Given the description of an element on the screen output the (x, y) to click on. 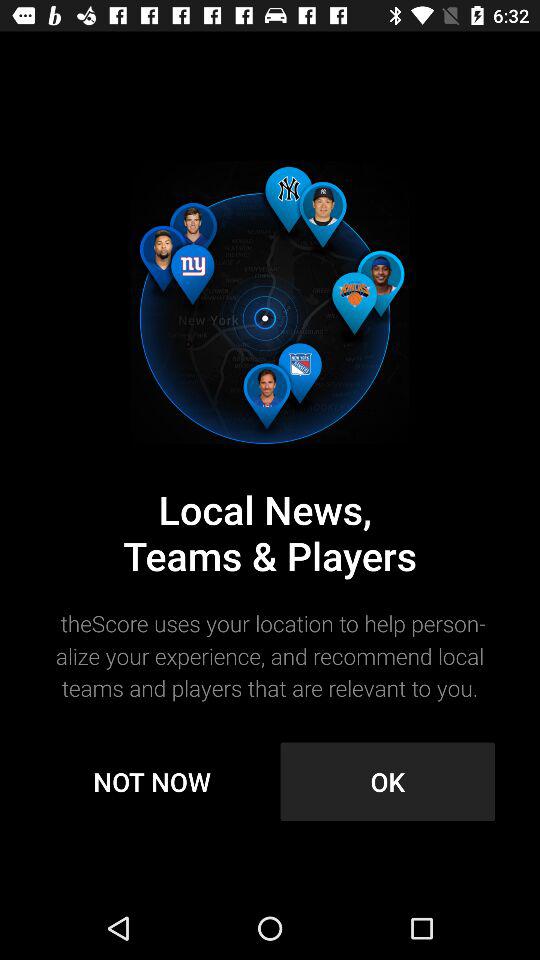
choose icon next to the ok icon (152, 781)
